Given the description of an element on the screen output the (x, y) to click on. 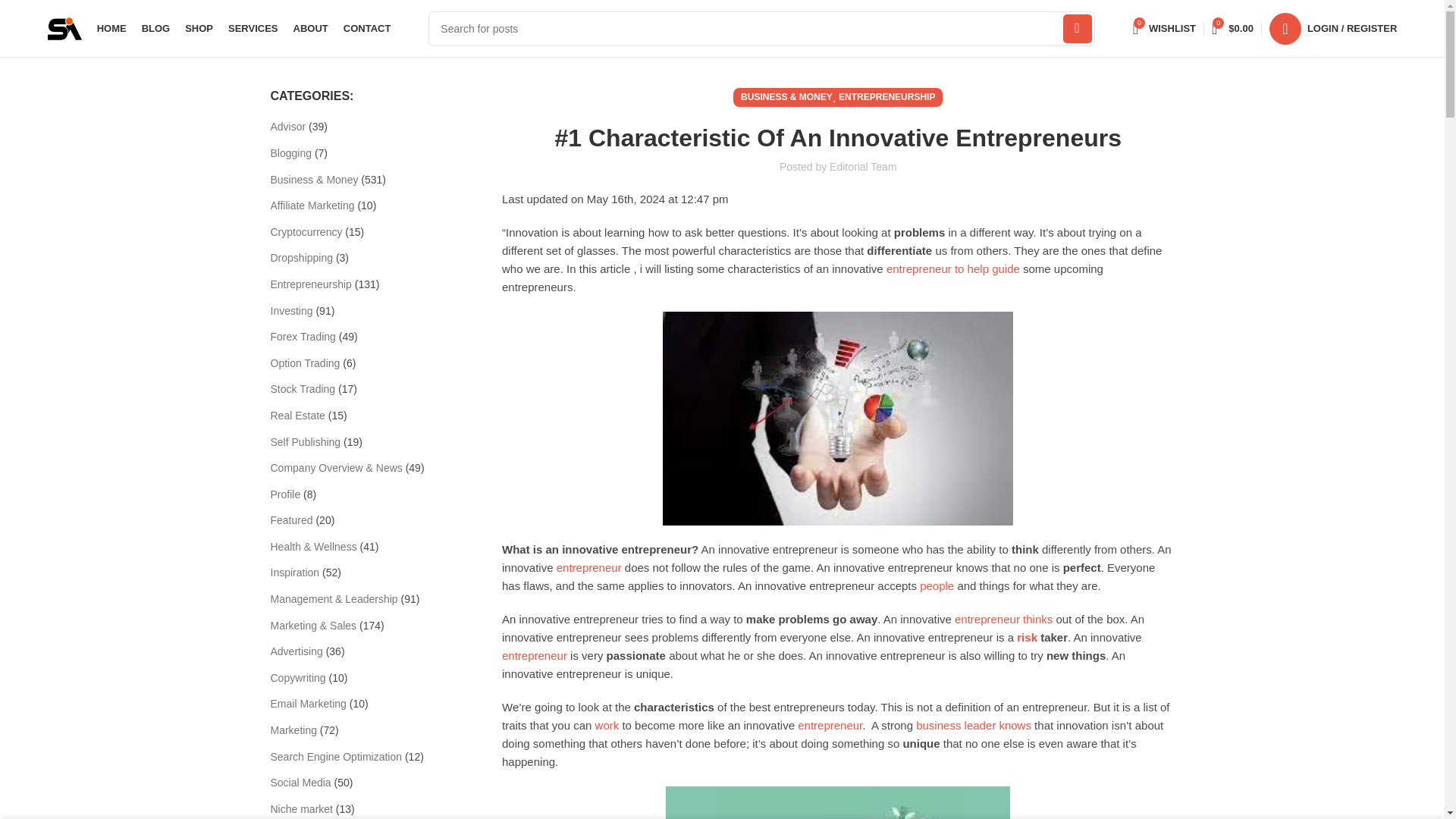
SHOP (198, 28)
business leader knows (1164, 28)
people (972, 725)
My account (936, 585)
entrepreneur thinks (1333, 28)
entrepreneur (1003, 618)
SERVICES (534, 655)
